Given the description of an element on the screen output the (x, y) to click on. 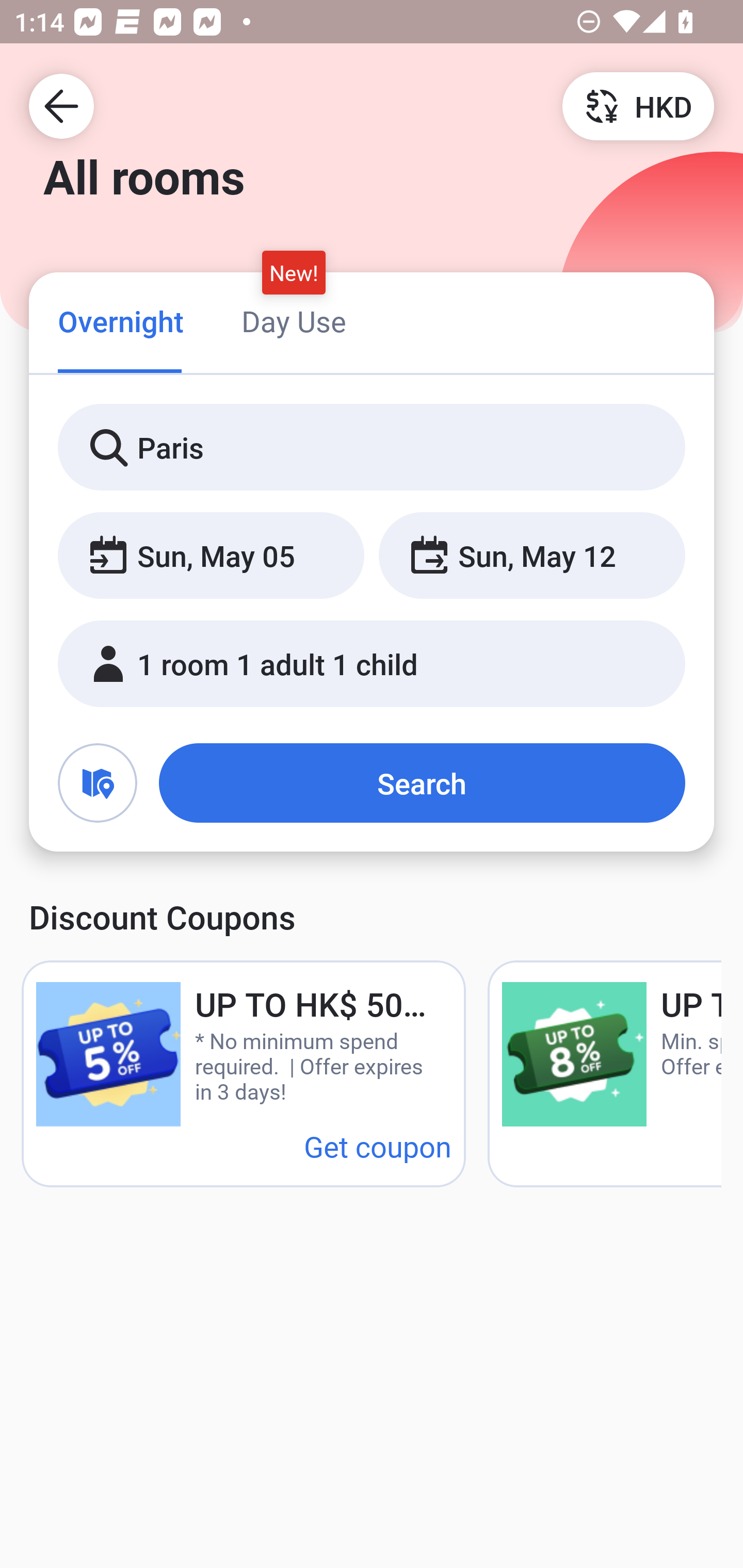
HKD (638, 105)
New! (294, 272)
Day Use (293, 321)
Paris (371, 447)
Sun, May 05 (210, 555)
Sun, May 12 (531, 555)
1 room 1 adult 1 child (371, 663)
Search (422, 783)
Get coupon (377, 1146)
